Given the description of an element on the screen output the (x, y) to click on. 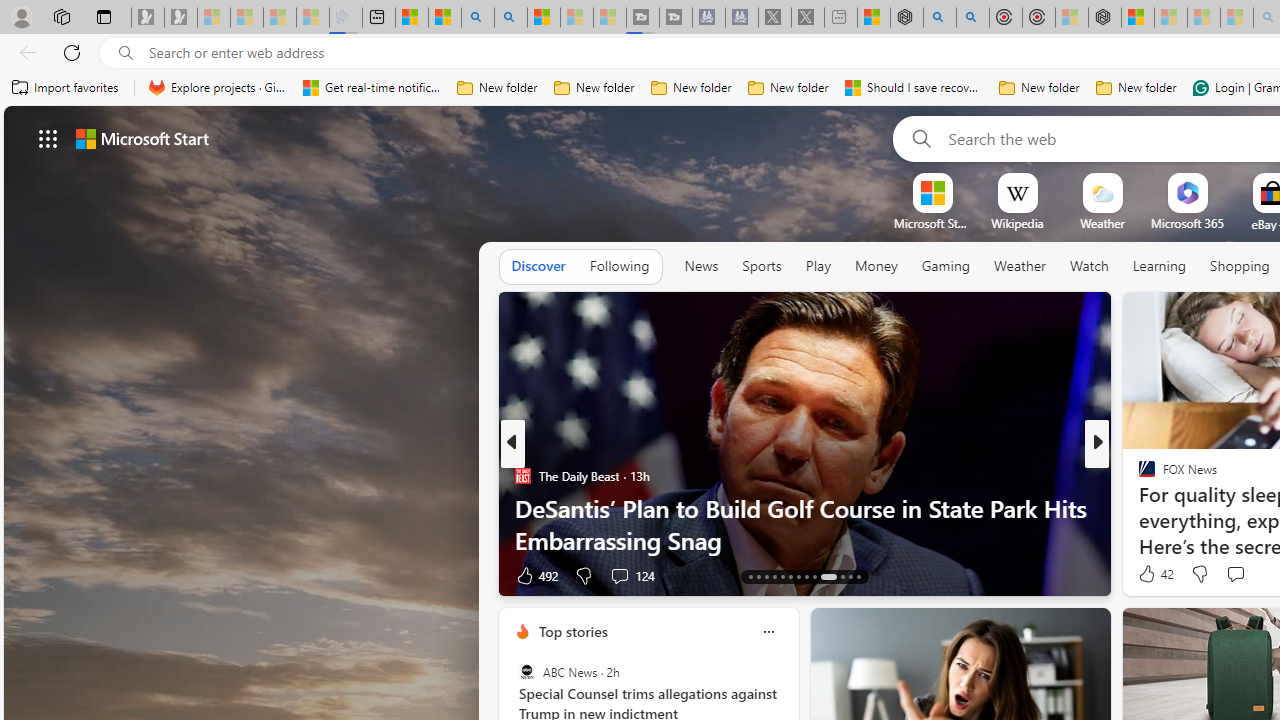
View comments 4 Comment (1229, 575)
Sports (761, 265)
Top stories (572, 631)
Weather (1020, 265)
ABC News (526, 672)
Sports (761, 267)
AutomationID: tab-15 (765, 576)
